Given the description of an element on the screen output the (x, y) to click on. 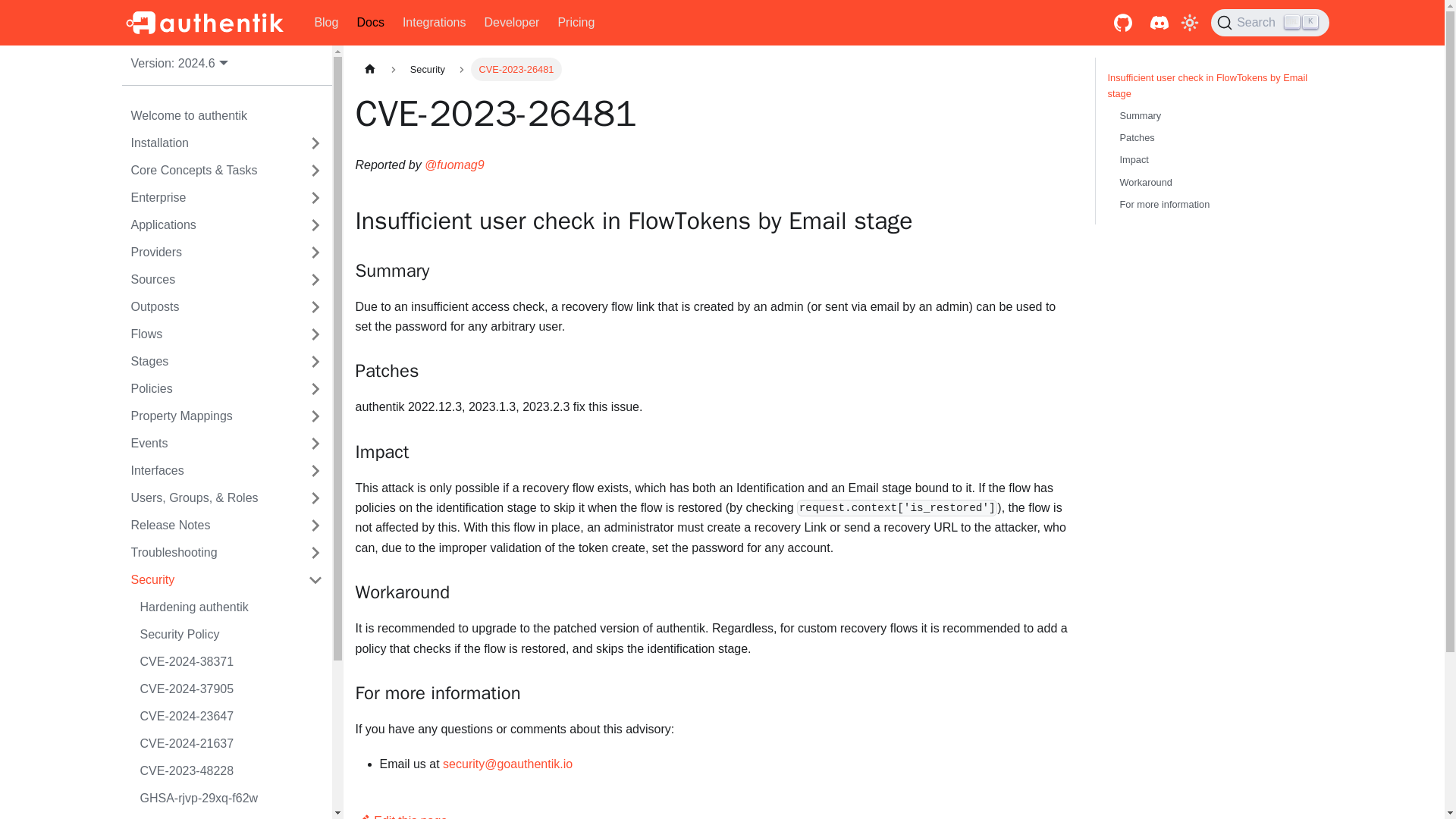
Integrations (1269, 22)
Sources (434, 22)
Installation (209, 279)
Docs (209, 143)
Flows (370, 22)
Policies (209, 334)
Welcome to authentik (209, 388)
Outposts (225, 115)
Pricing (209, 306)
Applications (576, 22)
Property Mappings (209, 224)
Enterprise (209, 416)
Providers (209, 197)
Events (209, 252)
